Given the description of an element on the screen output the (x, y) to click on. 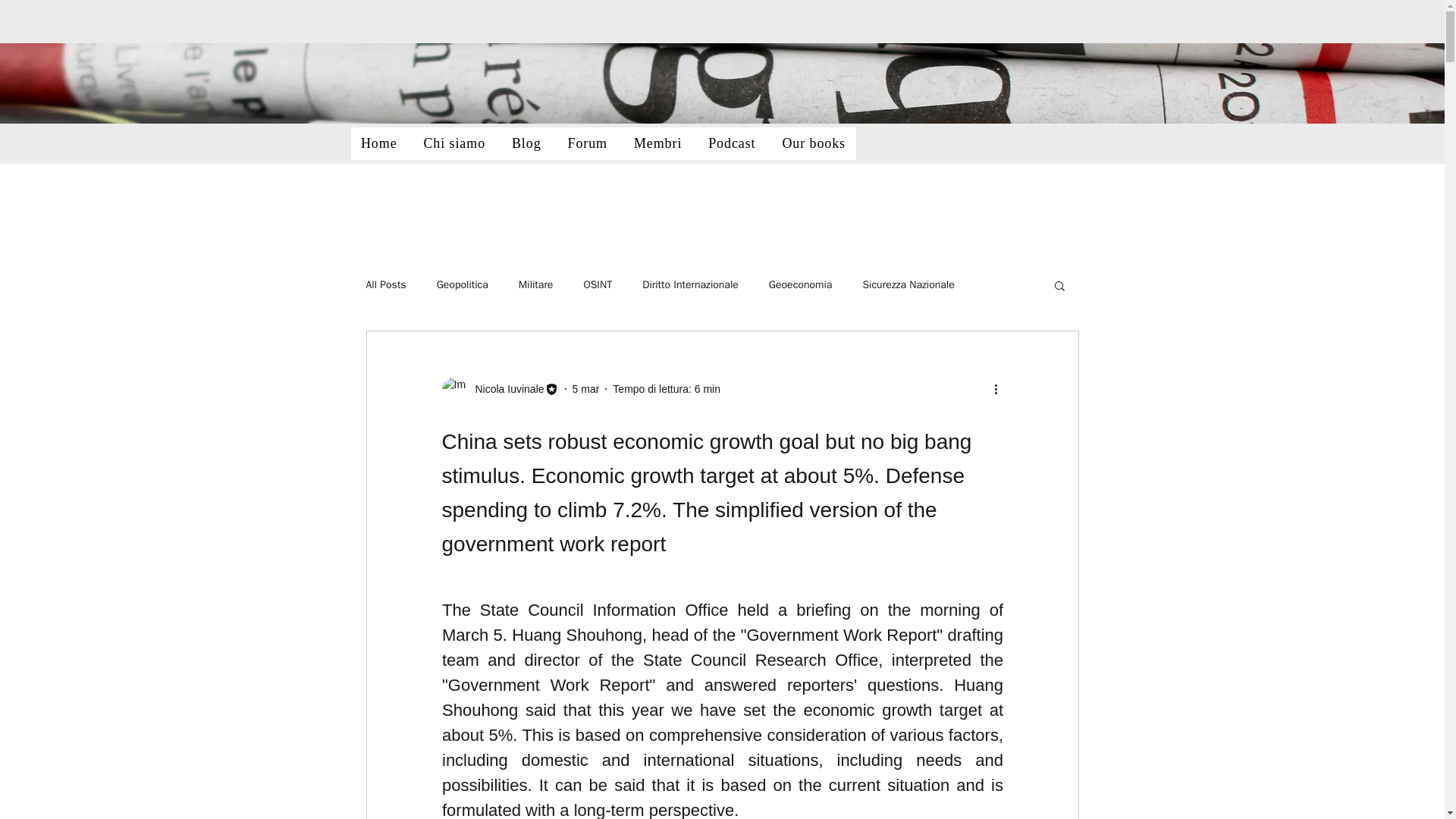
OSINT (597, 284)
Blog (526, 143)
Geoeconomia (800, 284)
Diritto Internazionale (690, 284)
Militare (535, 284)
Chi siamo (454, 143)
Geopolitica (461, 284)
5 mar (585, 387)
Nicola Iuvinale (504, 388)
Nicola Iuvinale (499, 388)
Our books (813, 143)
Home (378, 143)
All Posts (385, 284)
Podcast (731, 143)
Forum (587, 143)
